Given the description of an element on the screen output the (x, y) to click on. 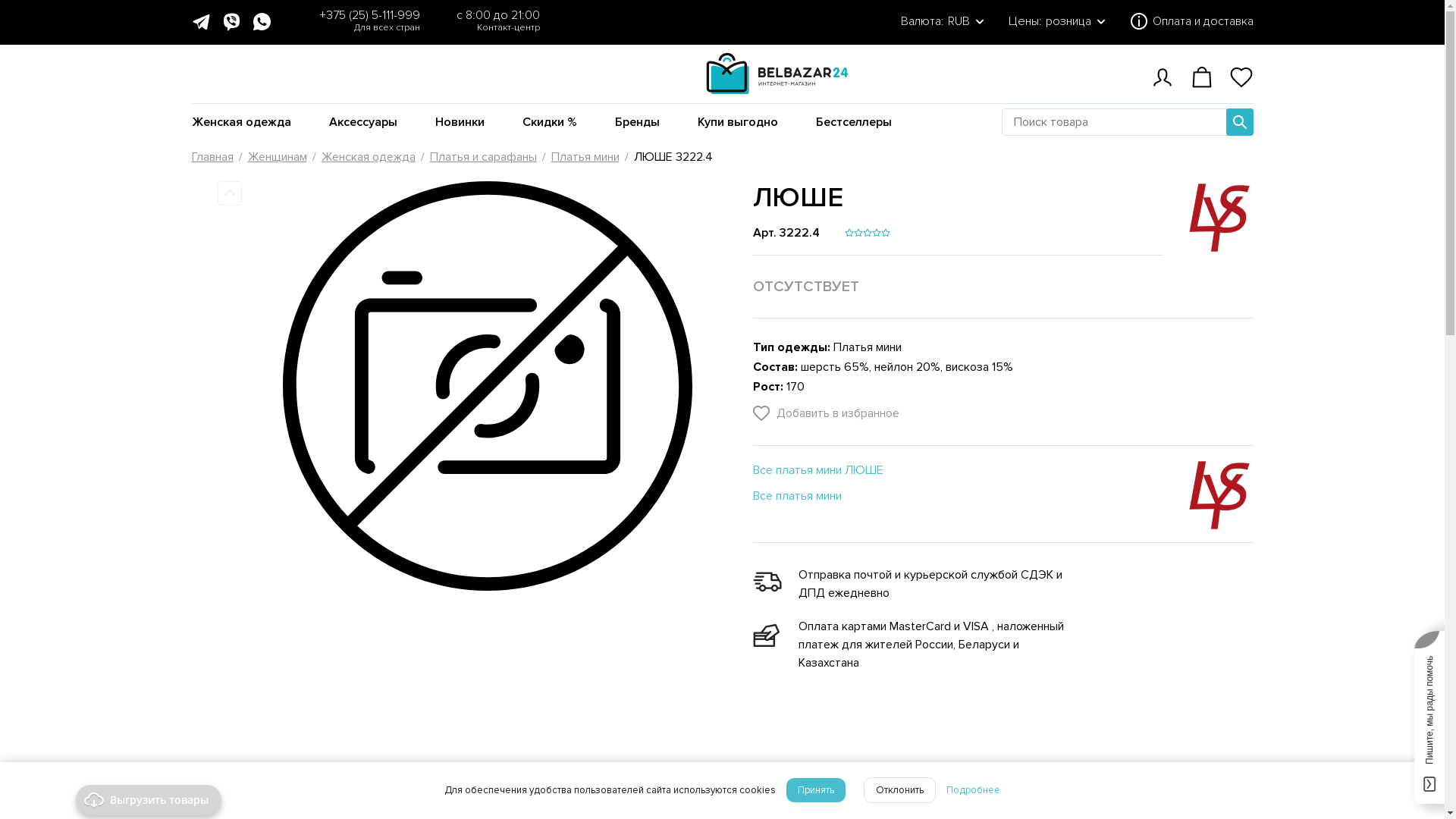
+375 (25) 5-111-999 Element type: text (368, 14)
